Given the description of an element on the screen output the (x, y) to click on. 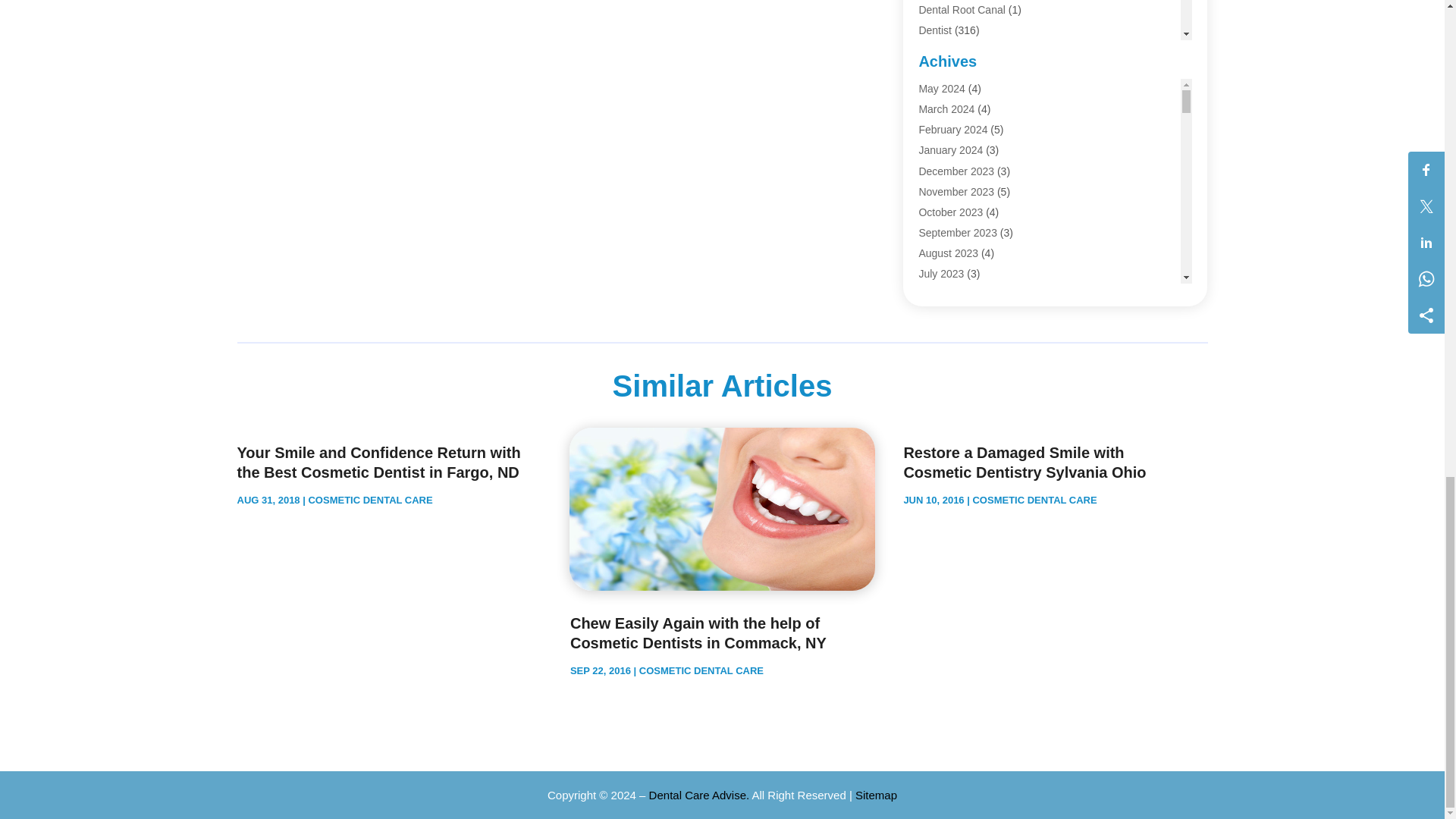
Dentistry (938, 51)
Dental Root Canal (961, 9)
Dentist (935, 30)
